Given the description of an element on the screen output the (x, y) to click on. 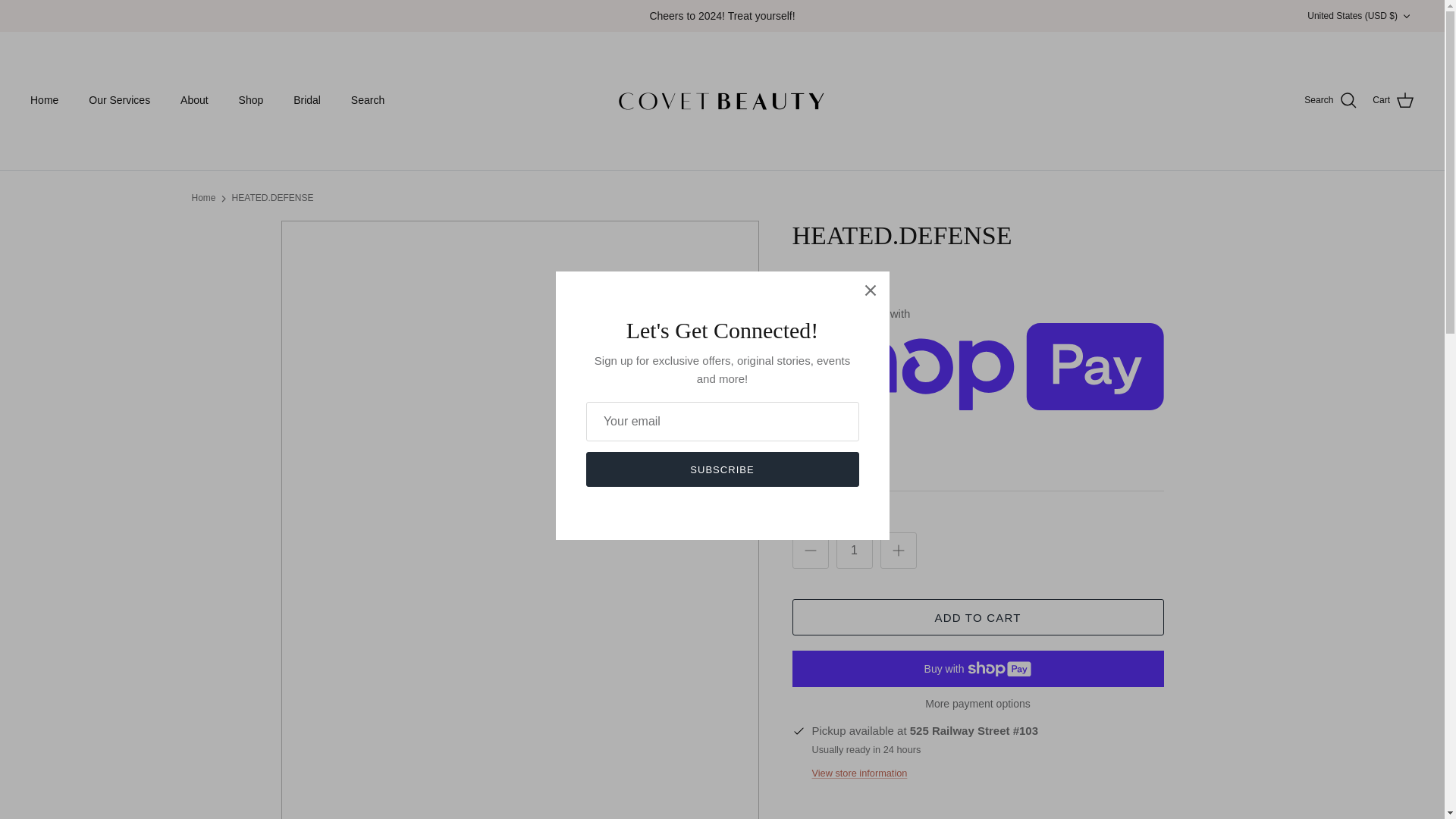
Plus (897, 550)
1 (853, 550)
Shop Covet Beauty  (721, 100)
Down (1406, 15)
Minus (809, 550)
